Given the description of an element on the screen output the (x, y) to click on. 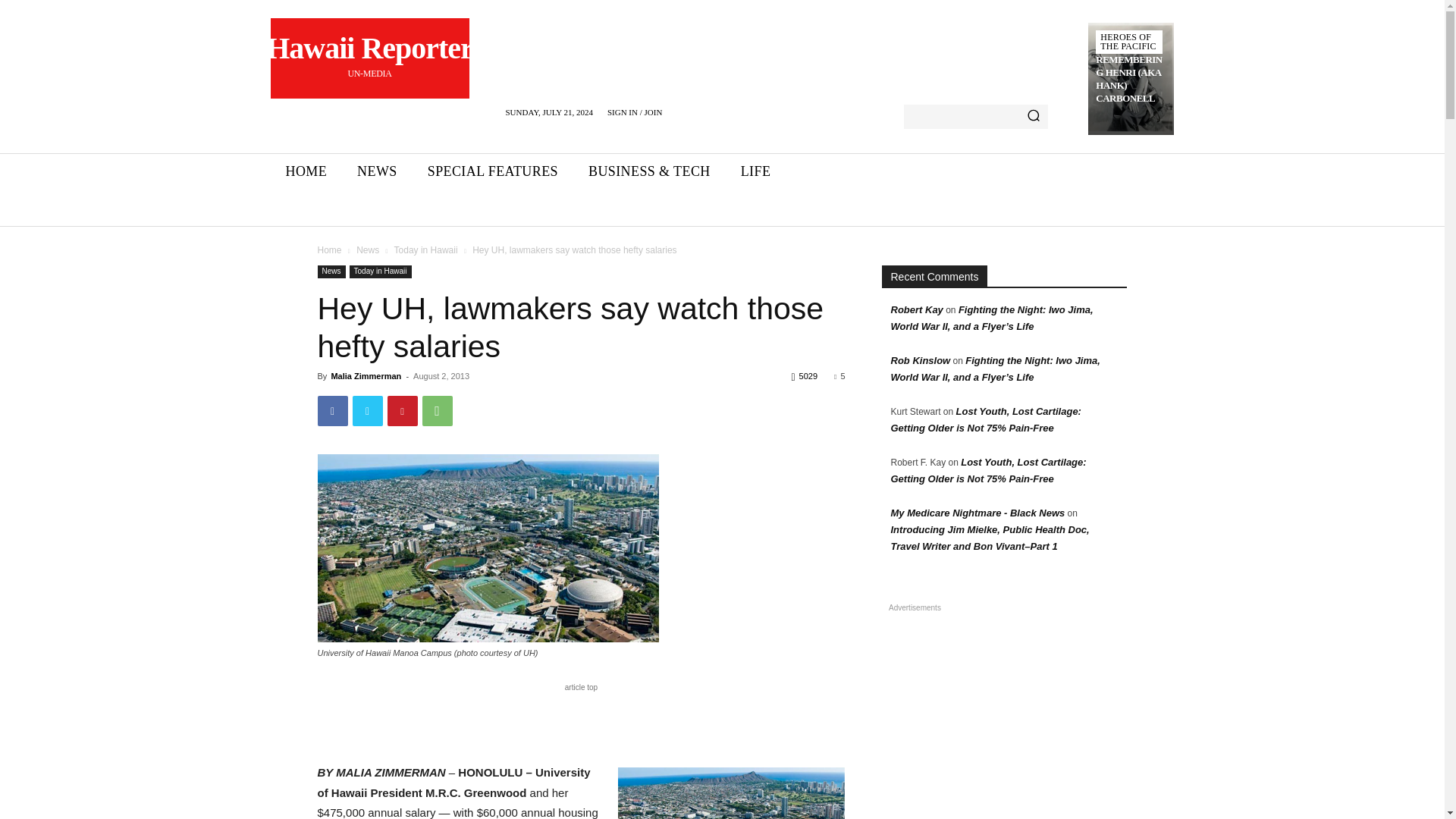
NEWS (377, 171)
HEROES OF THE PACIFIC (1128, 42)
HOME (368, 58)
SPECIAL FEATURES (305, 171)
